Given the description of an element on the screen output the (x, y) to click on. 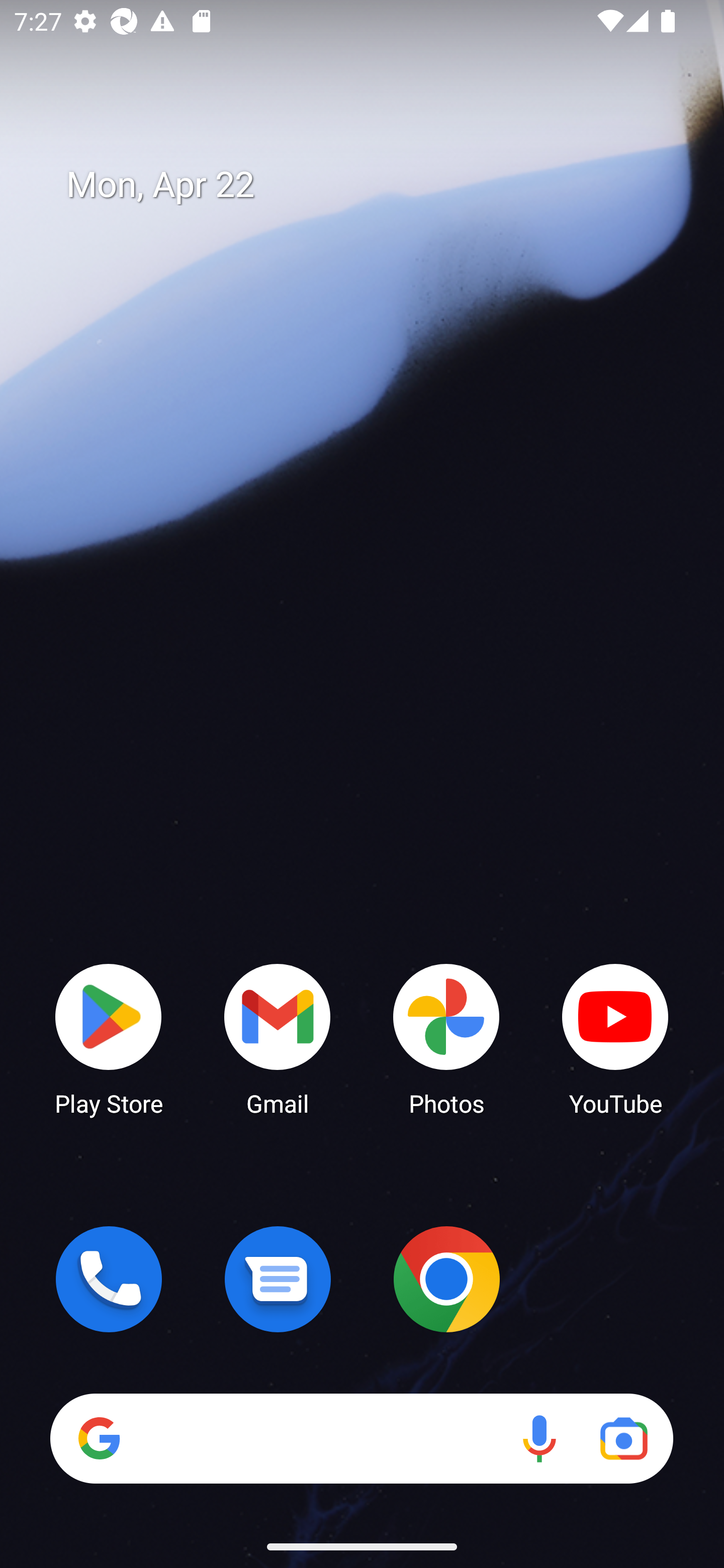
Mon, Apr 22 (375, 184)
Play Store (108, 1038)
Gmail (277, 1038)
Photos (445, 1038)
YouTube (615, 1038)
Phone (108, 1279)
Messages (277, 1279)
Chrome (446, 1279)
Search Voice search Google Lens (361, 1438)
Voice search (539, 1438)
Google Lens (623, 1438)
